Given the description of an element on the screen output the (x, y) to click on. 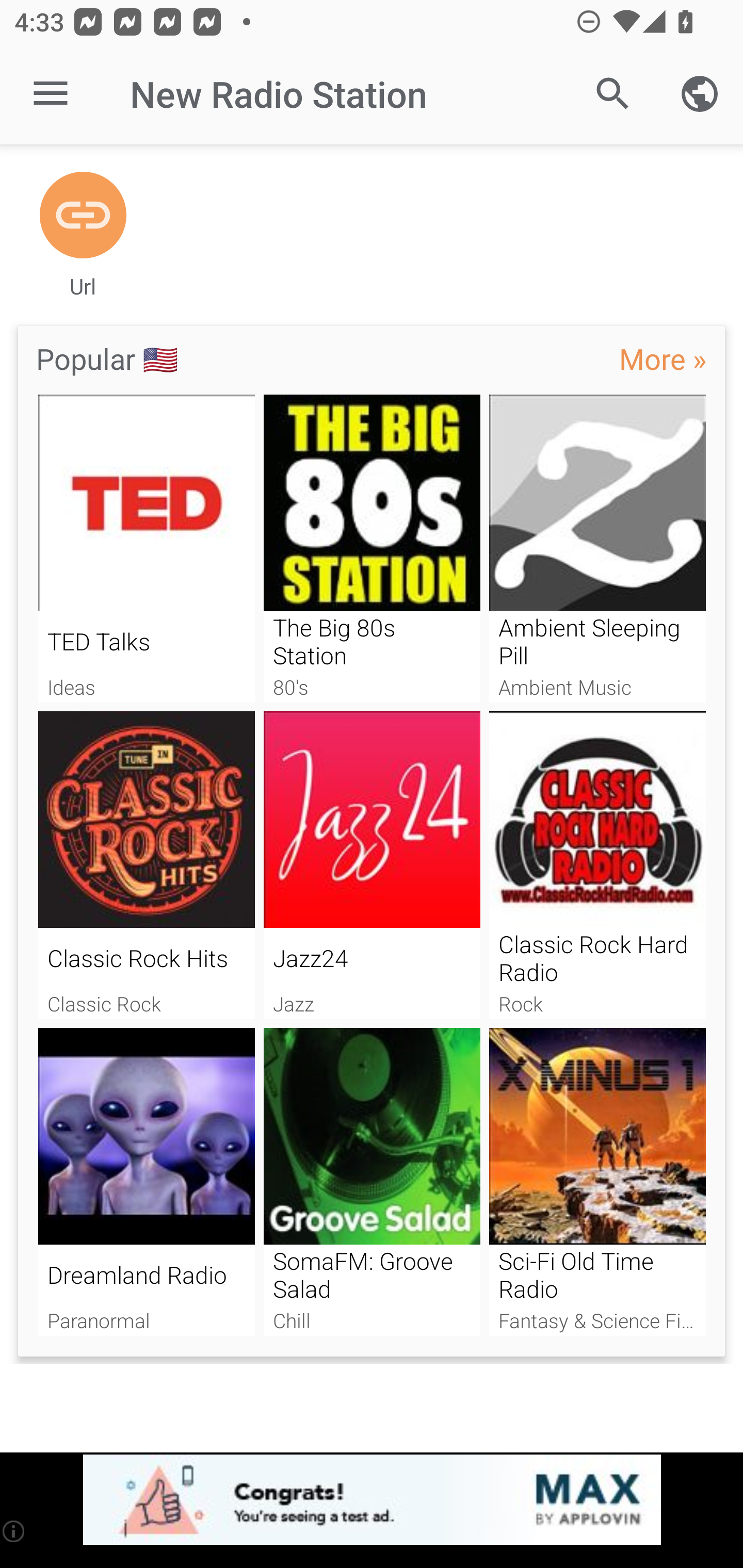
Open navigation sidebar (50, 93)
Search (612, 93)
Podcast languages (699, 93)
RSS (82, 215)
More » (662, 357)
TED Talks Ideas (145, 548)
The Big 80s Station 80's (371, 548)
Ambient Sleeping Pill Ambient Music (596, 548)
Classic Rock Hits Classic Rock (145, 865)
Jazz24 Jazz (371, 865)
Classic Rock Hard Radio Rock (596, 865)
Dreamland Radio Paranormal (145, 1181)
SomaFM: Groove Salad Chill (371, 1181)
app-monetization (371, 1500)
(i) (14, 1531)
